Given the description of an element on the screen output the (x, y) to click on. 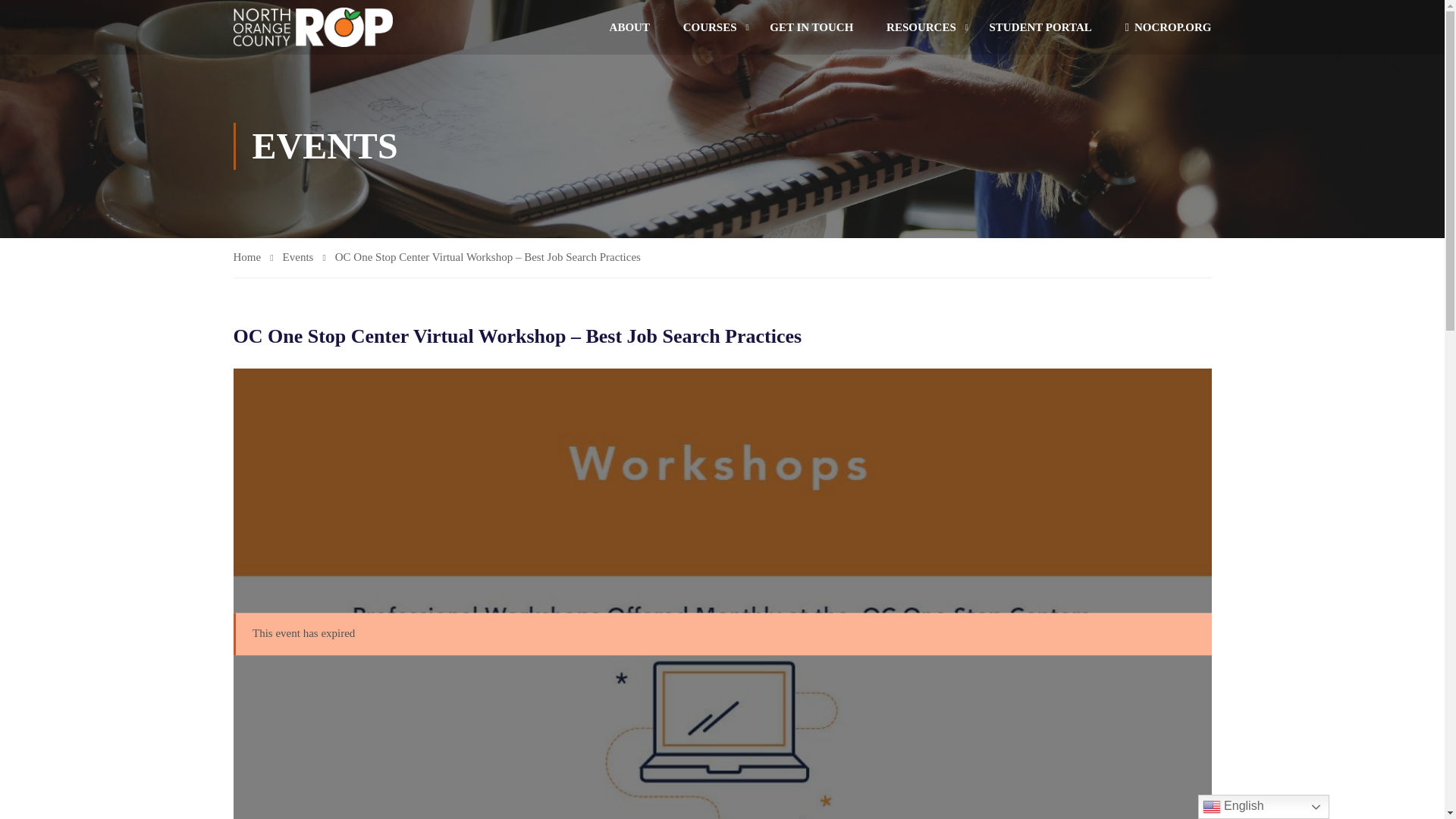
COURSES (710, 26)
NOCROP.ORG (1160, 26)
ABOUT (629, 26)
STUDENT PORTAL (1040, 26)
Events (304, 257)
Home (252, 257)
GET IN TOUCH (810, 26)
